Given the description of an element on the screen output the (x, y) to click on. 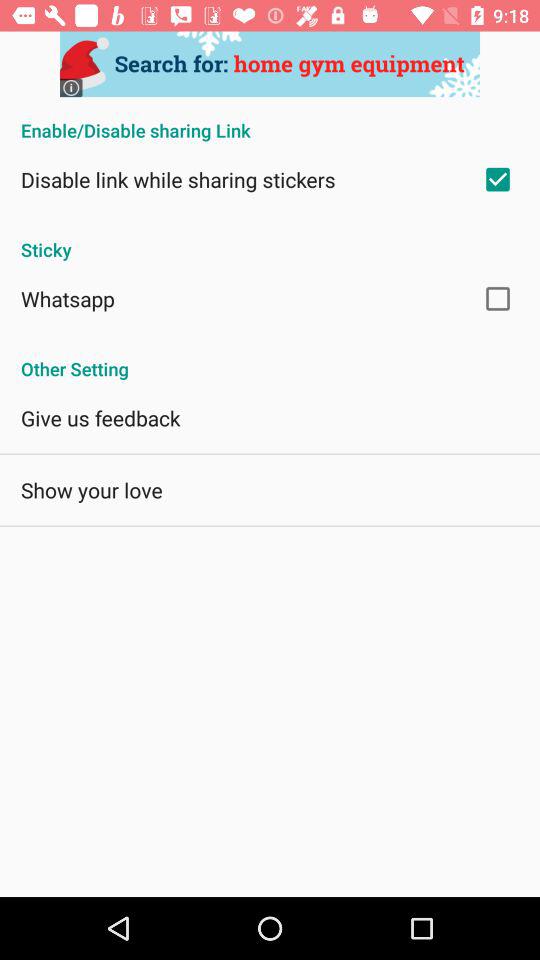
click the app below the other setting (100, 417)
